Given the description of an element on the screen output the (x, y) to click on. 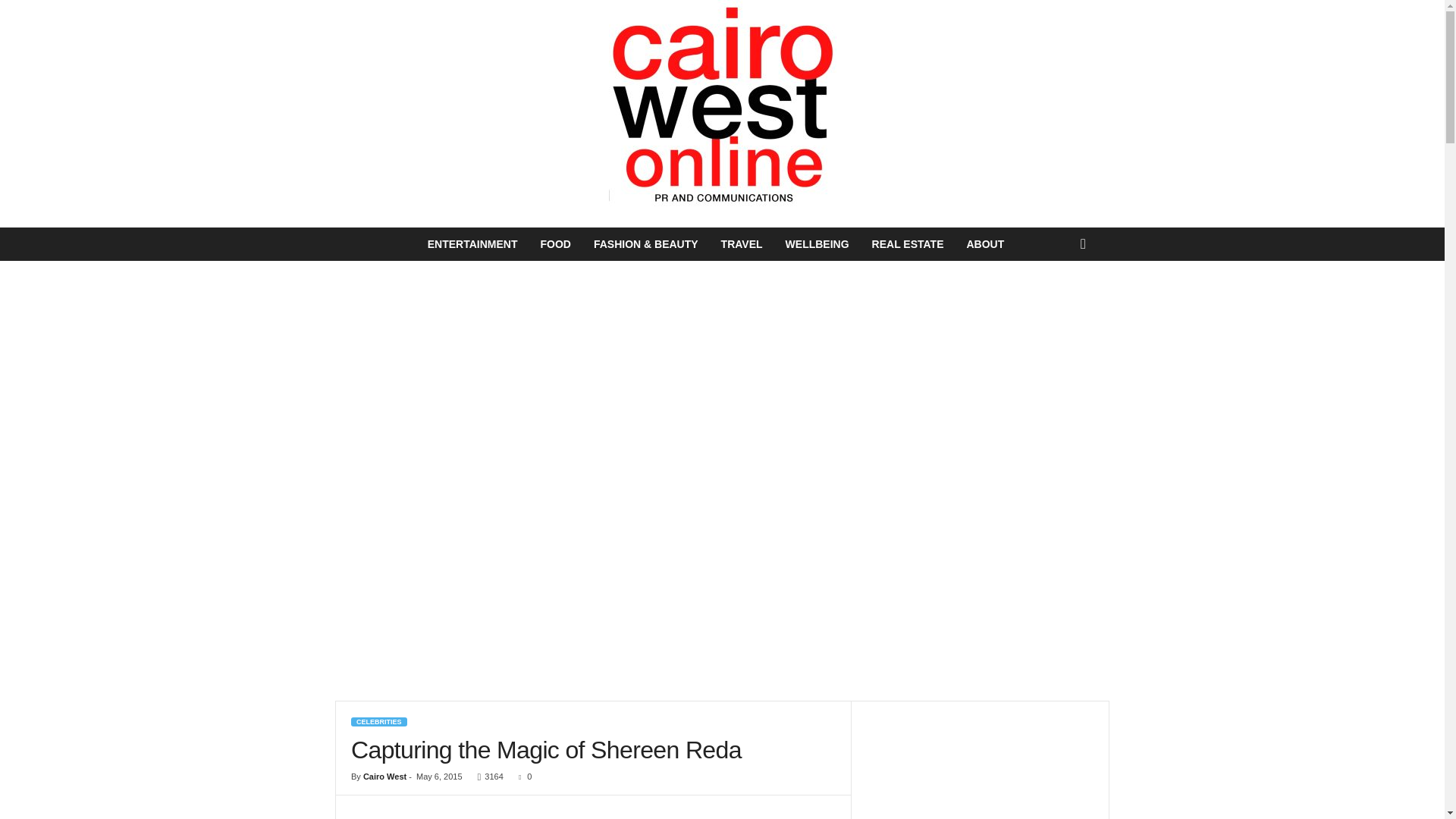
TRAVEL (742, 244)
ABOUT (984, 244)
WELLBEING (817, 244)
CELEBRITIES (378, 721)
FOOD (554, 244)
Cairo West (384, 776)
ENTERTAINMENT (472, 244)
REAL ESTATE (907, 244)
0 (521, 776)
